Given the description of an element on the screen output the (x, y) to click on. 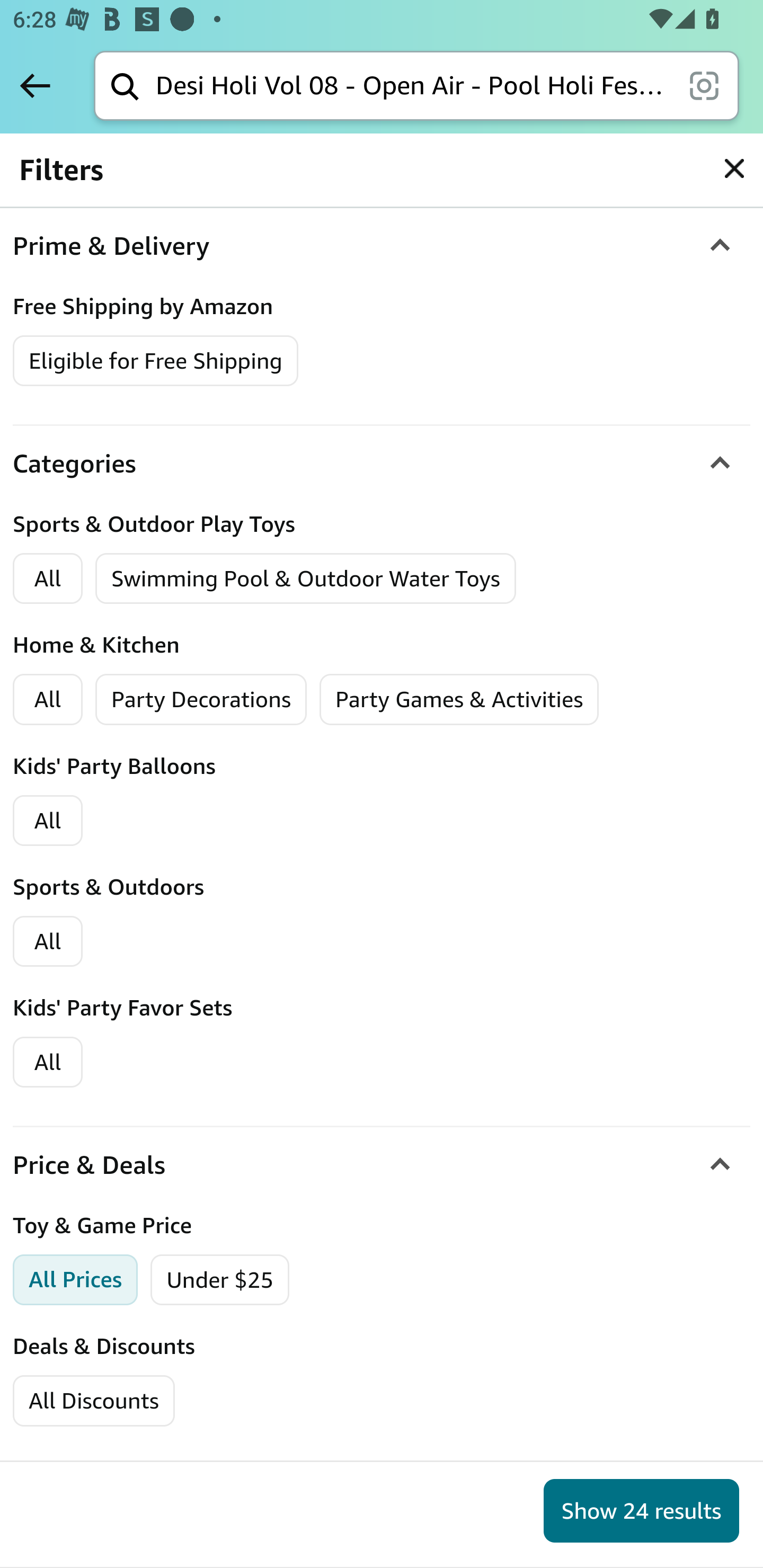
Back (35, 85)
scan it (704, 85)
Prime & Delivery (381, 245)
Eligible for Free Shipping (155, 361)
Categories (381, 464)
All (47, 579)
Swimming Pool & Outdoor Water Toys (305, 579)
All (47, 699)
Party Decorations (201, 699)
Party Games & Activities (458, 699)
All (47, 820)
All (47, 941)
All (47, 1062)
Price & Deals (381, 1165)
Under $25 (219, 1280)
All Discounts (93, 1400)
Show 24 results (641, 1510)
